Given the description of an element on the screen output the (x, y) to click on. 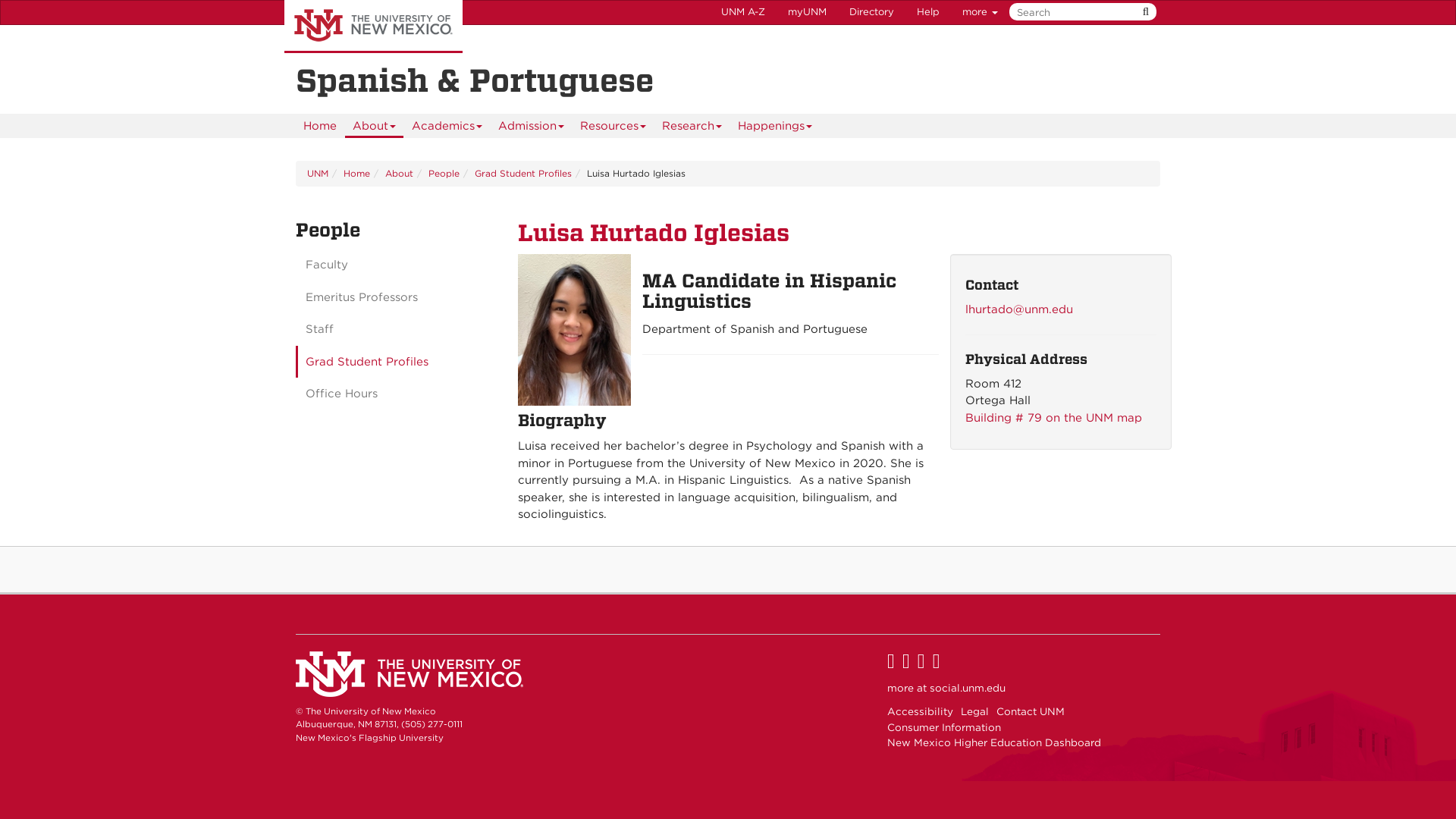
Home (319, 125)
Home (319, 125)
Academics  (446, 125)
The University of New Mexico (373, 26)
Directory (871, 11)
UNM A-Z (743, 11)
myUNM (807, 11)
input search query here (1079, 12)
Directory (871, 11)
more (979, 11)
